Given the description of an element on the screen output the (x, y) to click on. 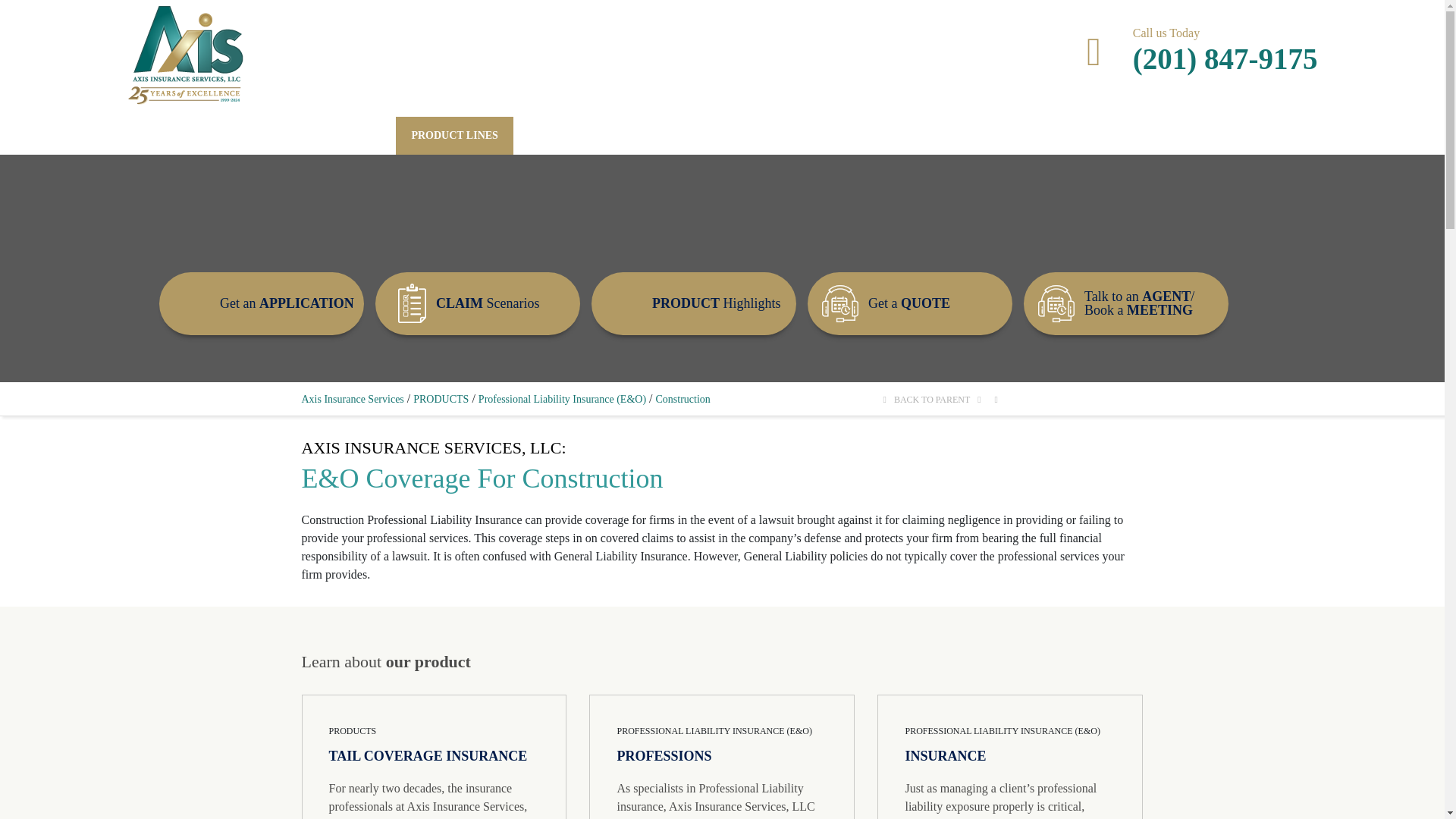
Go to PRODUCTS. (440, 398)
PRODUCT LINES (454, 135)
Construction (663, 755)
Go to Axis Insurance Services. (352, 398)
Construction (944, 755)
Construction (428, 755)
Go to Construction. (683, 398)
ABOUT (280, 135)
